Given the description of an element on the screen output the (x, y) to click on. 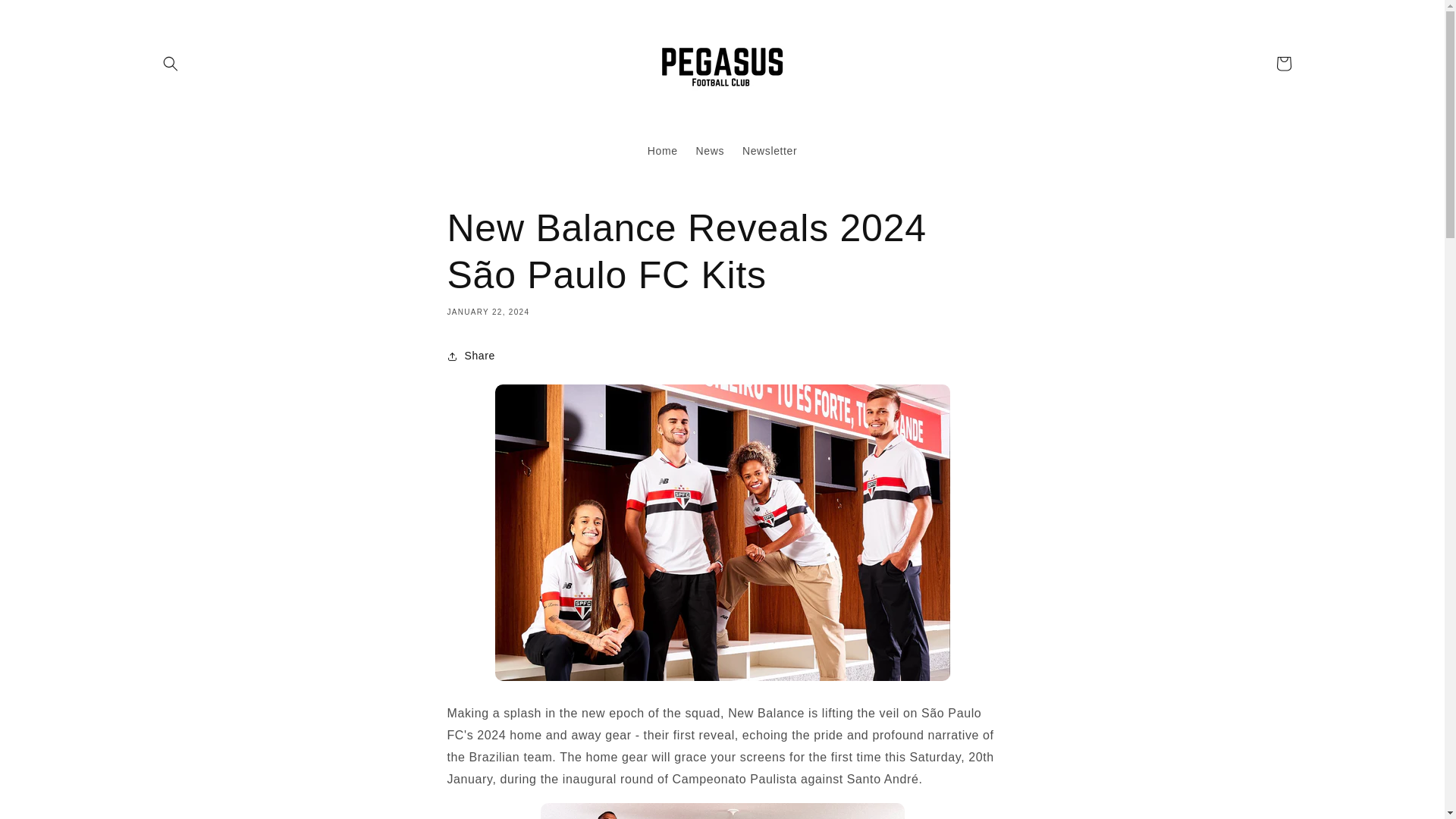
Cart (1283, 63)
Skip to content (45, 17)
Newsletter (769, 151)
News (710, 151)
Home (663, 151)
